Given the description of an element on the screen output the (x, y) to click on. 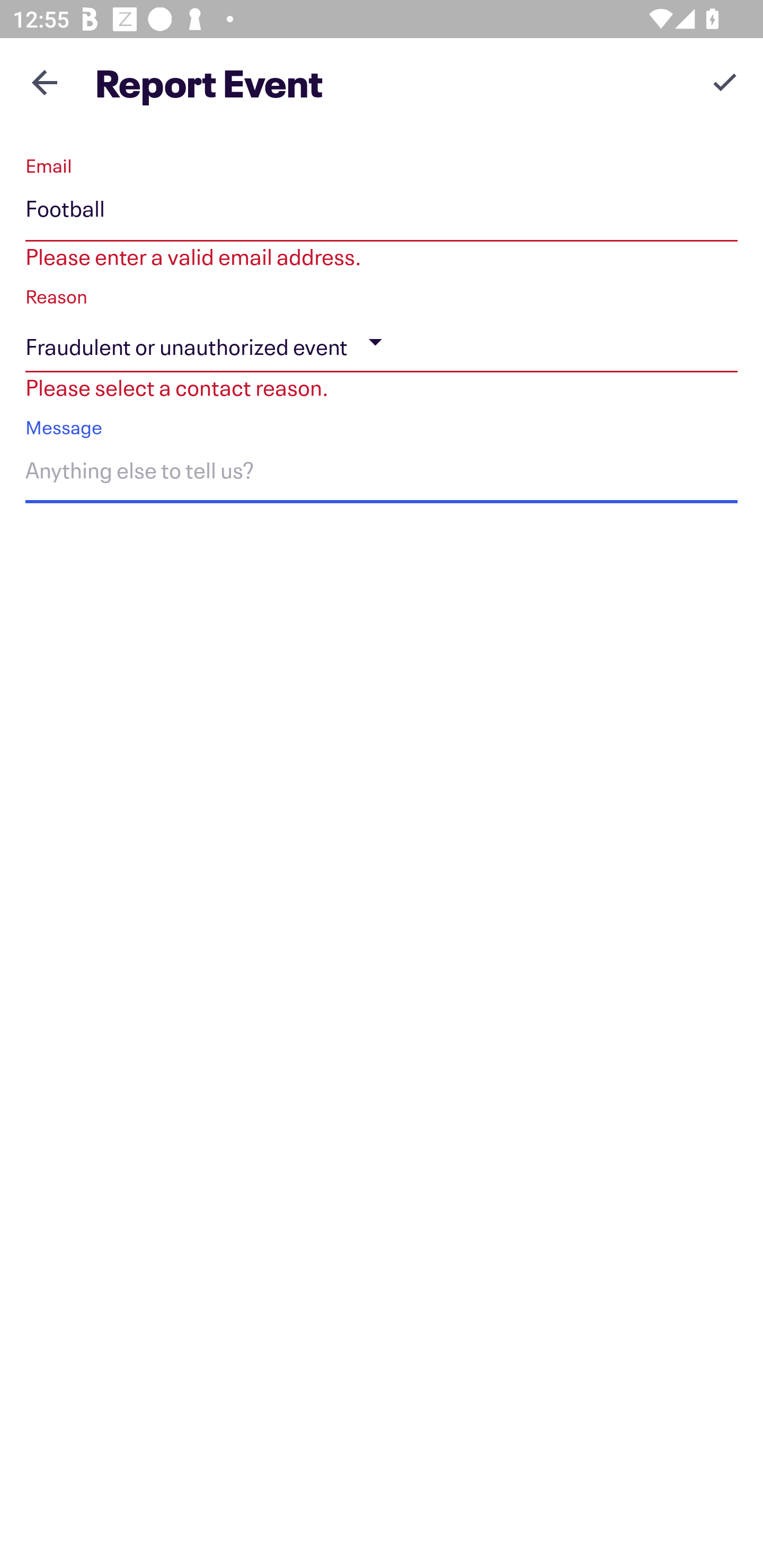
Navigate up (44, 82)
Save (724, 81)
Football (381, 211)
Fraudulent or unauthorized event    (381, 342)
Anything else to tell us? (381, 473)
